Given the description of an element on the screen output the (x, y) to click on. 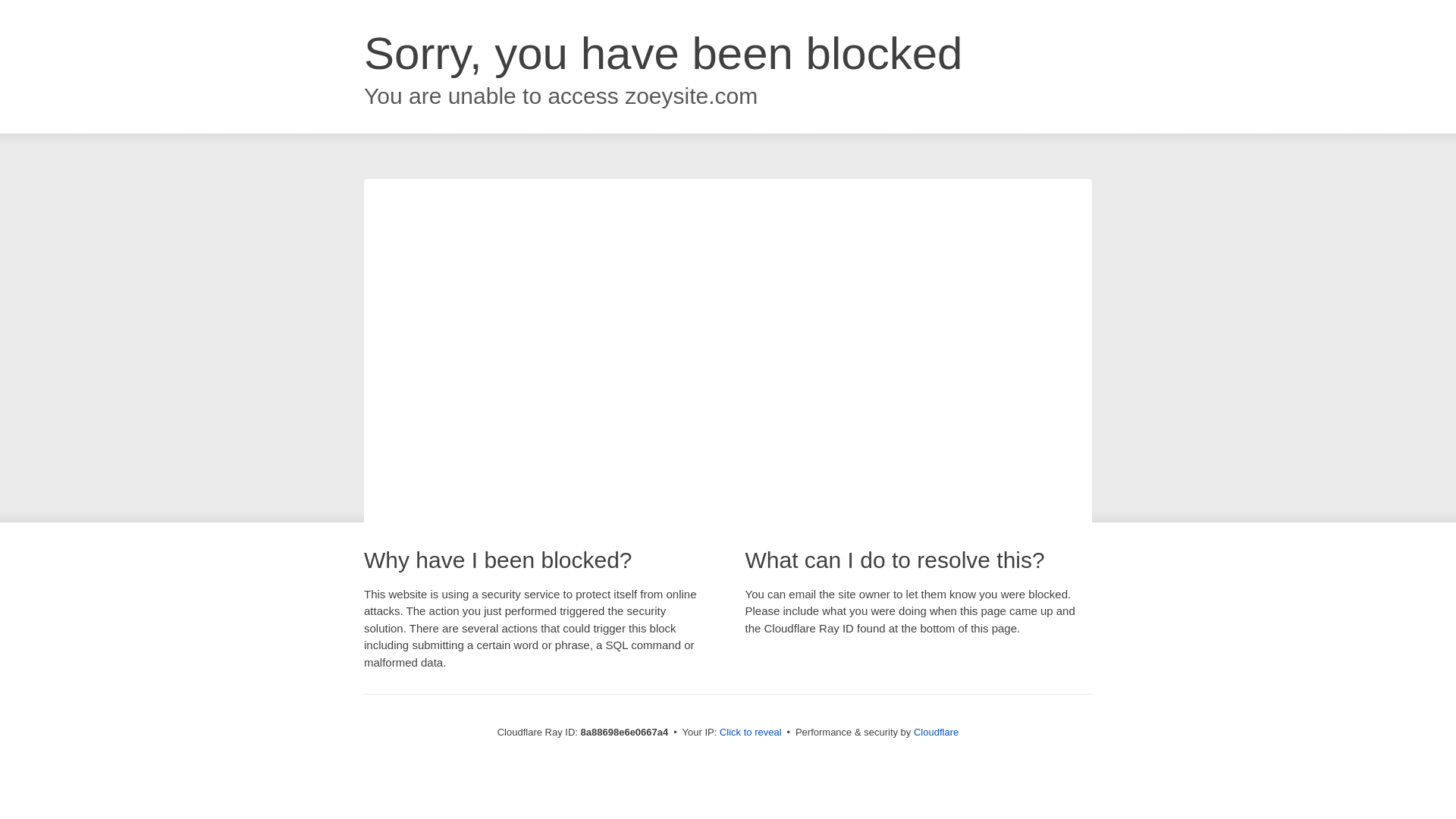
Click to reveal (750, 732)
Cloudflare (936, 731)
